Given the description of an element on the screen output the (x, y) to click on. 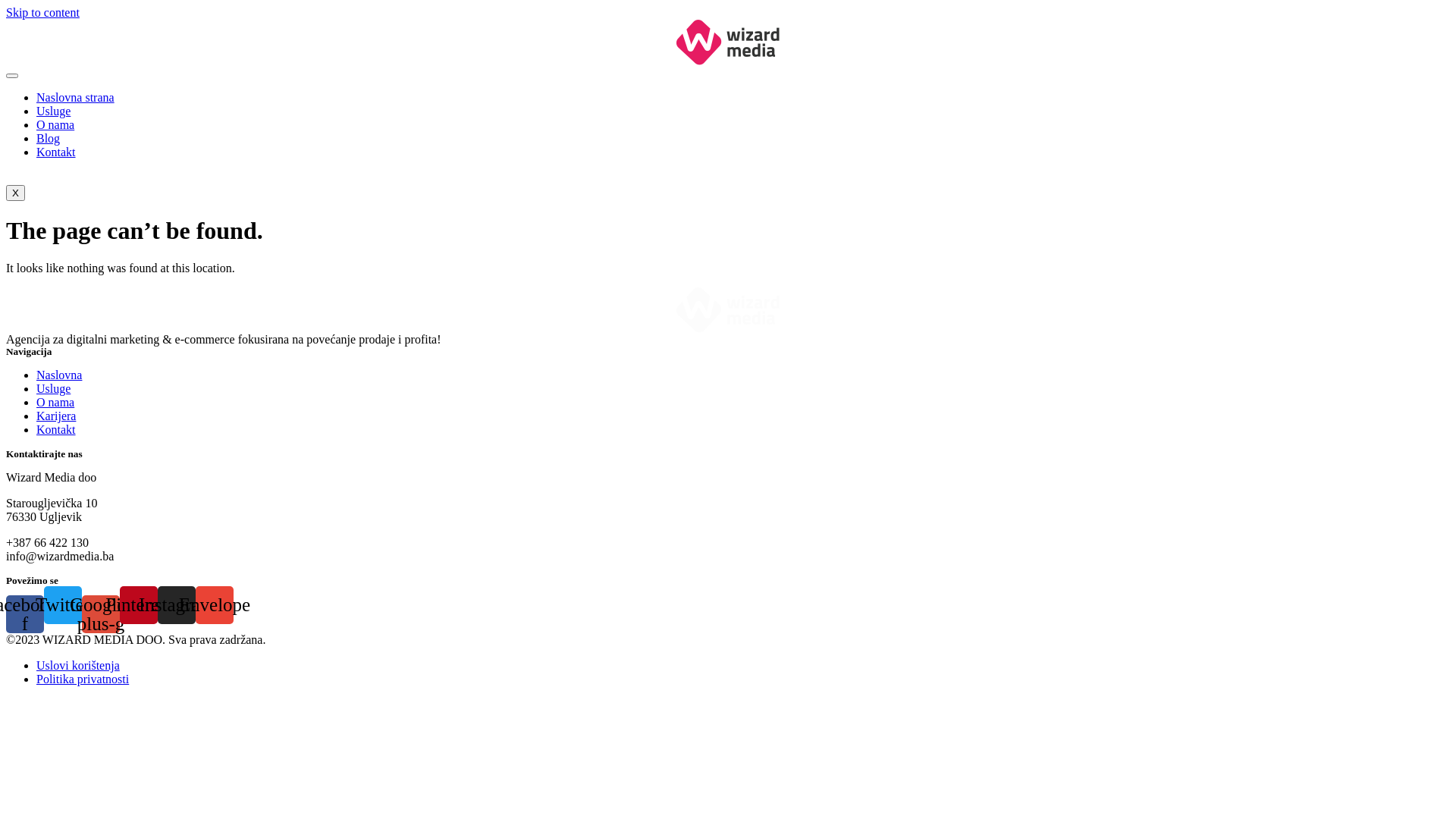
Envelope Element type: text (214, 605)
Politika privatnosti Element type: text (82, 678)
Pinterest Element type: text (138, 605)
X Element type: text (15, 192)
Twitter Element type: text (62, 605)
Usluge Element type: text (53, 388)
Usluge Element type: text (53, 110)
O nama Element type: text (55, 401)
Google-plus-g Element type: text (100, 614)
Skip to content Element type: text (42, 12)
Instagram Element type: text (176, 605)
Blog Element type: text (47, 137)
wizardmedia-logo Element type: hover (727, 42)
Kontakt Element type: text (55, 429)
Karijera Element type: text (55, 415)
Naslovna Element type: text (58, 374)
Kontakt Element type: text (55, 151)
O nama Element type: text (55, 124)
Facebook-f Element type: text (24, 614)
Naslovna strana Element type: text (75, 97)
